Given the description of an element on the screen output the (x, y) to click on. 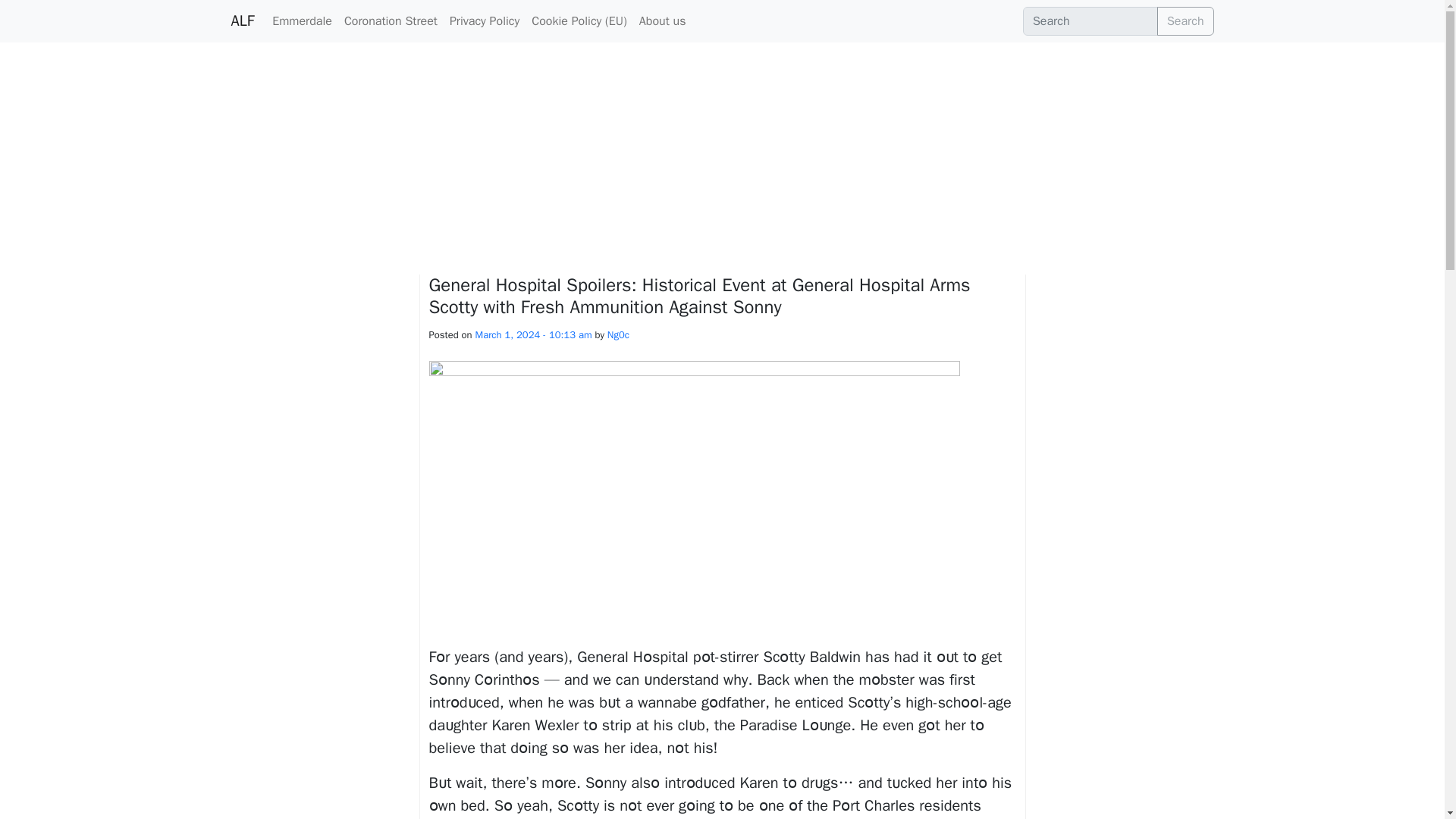
Coronation Street (390, 20)
Emmerdale (301, 20)
Ng0c (617, 334)
Privacy Policy (484, 20)
March 1, 2024 - 10:13 am (534, 334)
Privacy Policy (484, 20)
Coronation Street (390, 20)
Emmerdale (301, 20)
Search (1185, 21)
About us (663, 20)
Search (1090, 21)
About us (663, 20)
View all posts by Ng0c (617, 334)
March 1, 2024 - 10:13 am (534, 334)
